Given the description of an element on the screen output the (x, y) to click on. 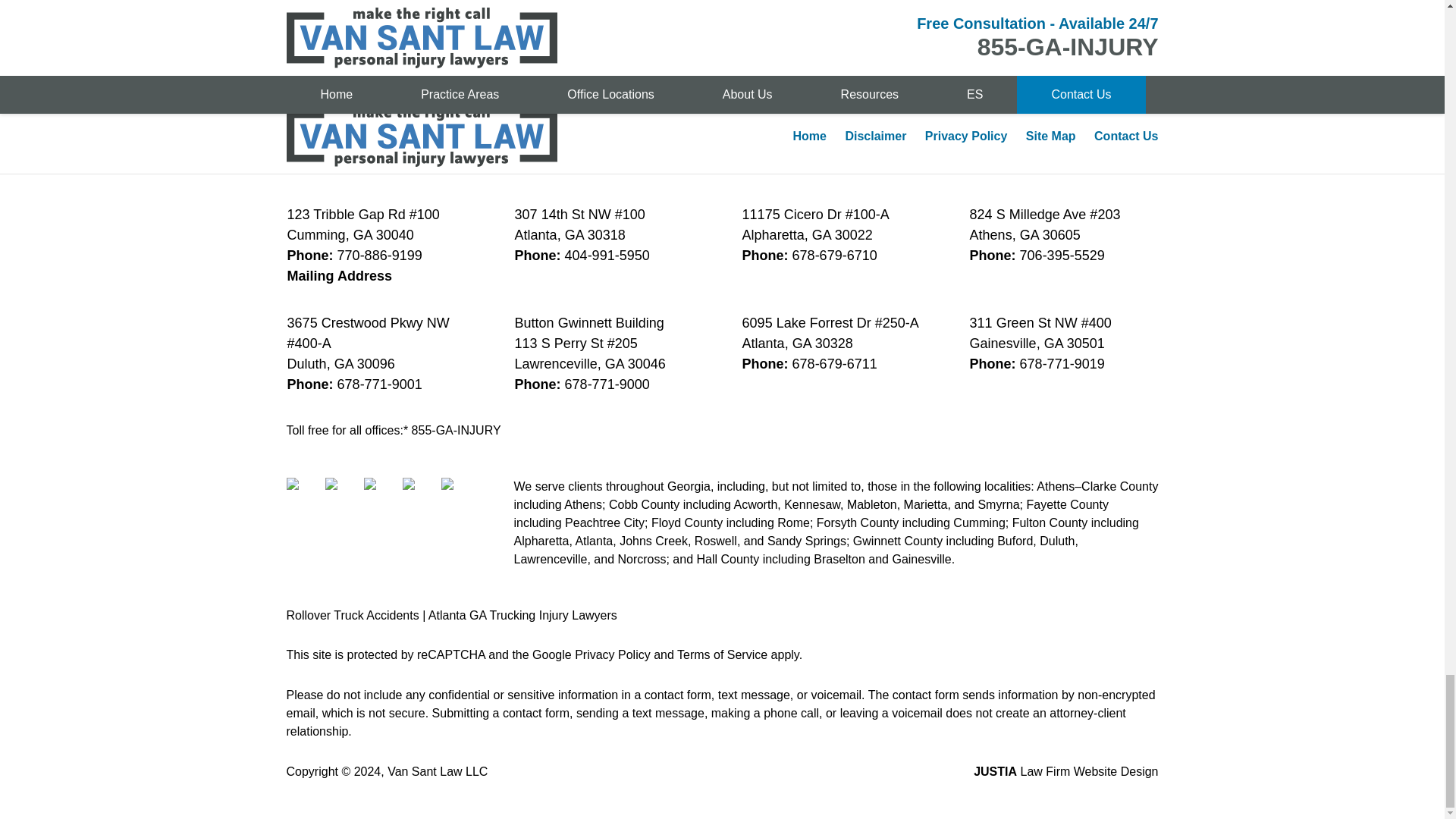
Justia (418, 494)
YouTube (458, 494)
LinkedIn (381, 494)
Facebook (303, 494)
Twitter (341, 494)
